Given the description of an element on the screen output the (x, y) to click on. 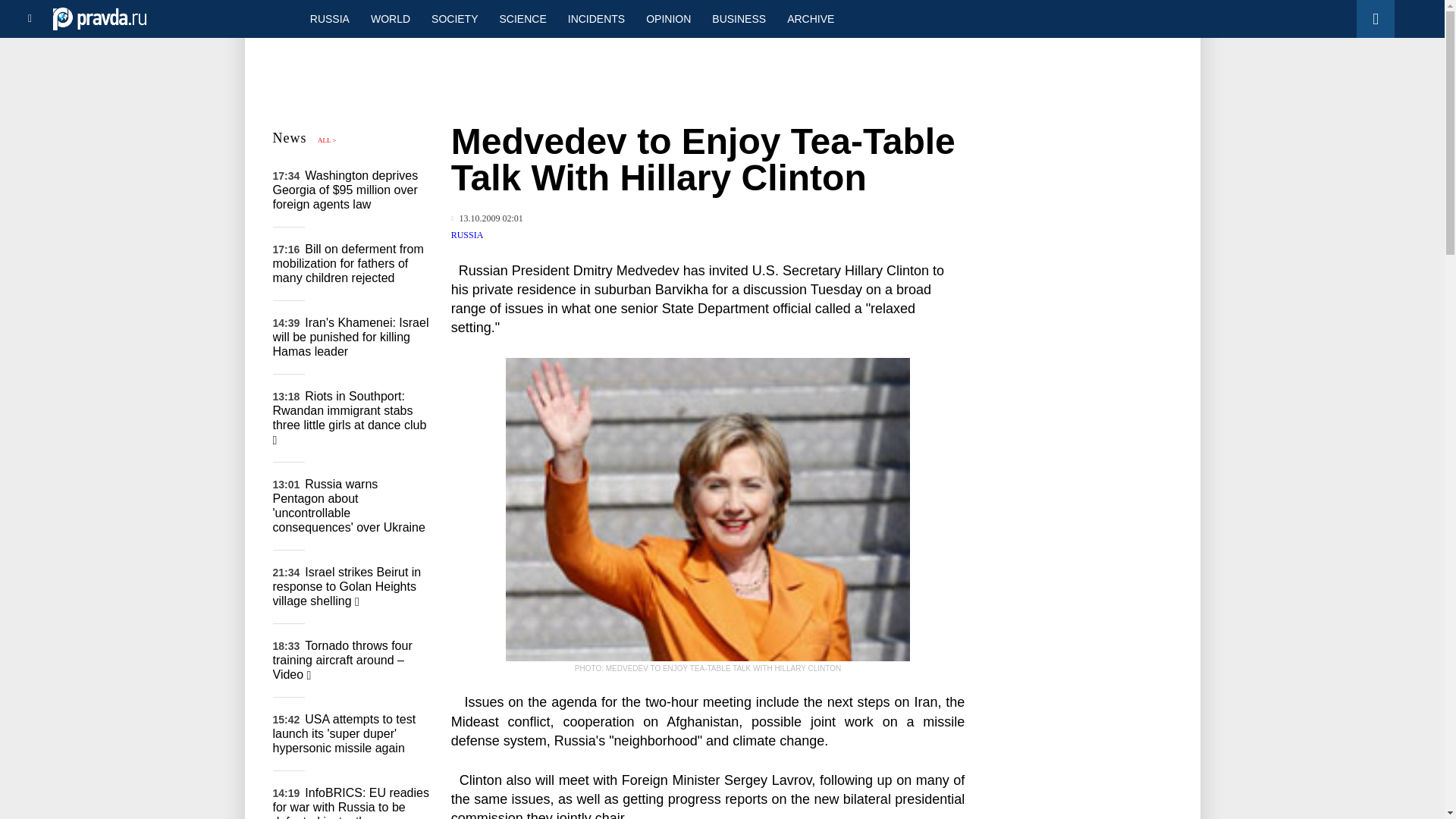
BUSINESS (738, 18)
News (290, 137)
WORLD (389, 18)
RUSSIA (329, 18)
ARCHIVE (810, 18)
RUSSIA (467, 235)
SCIENCE (523, 18)
Published (486, 218)
Medvedev to Enjoy Tea-Table Talk With Hillary Clinton (707, 508)
